Given the description of an element on the screen output the (x, y) to click on. 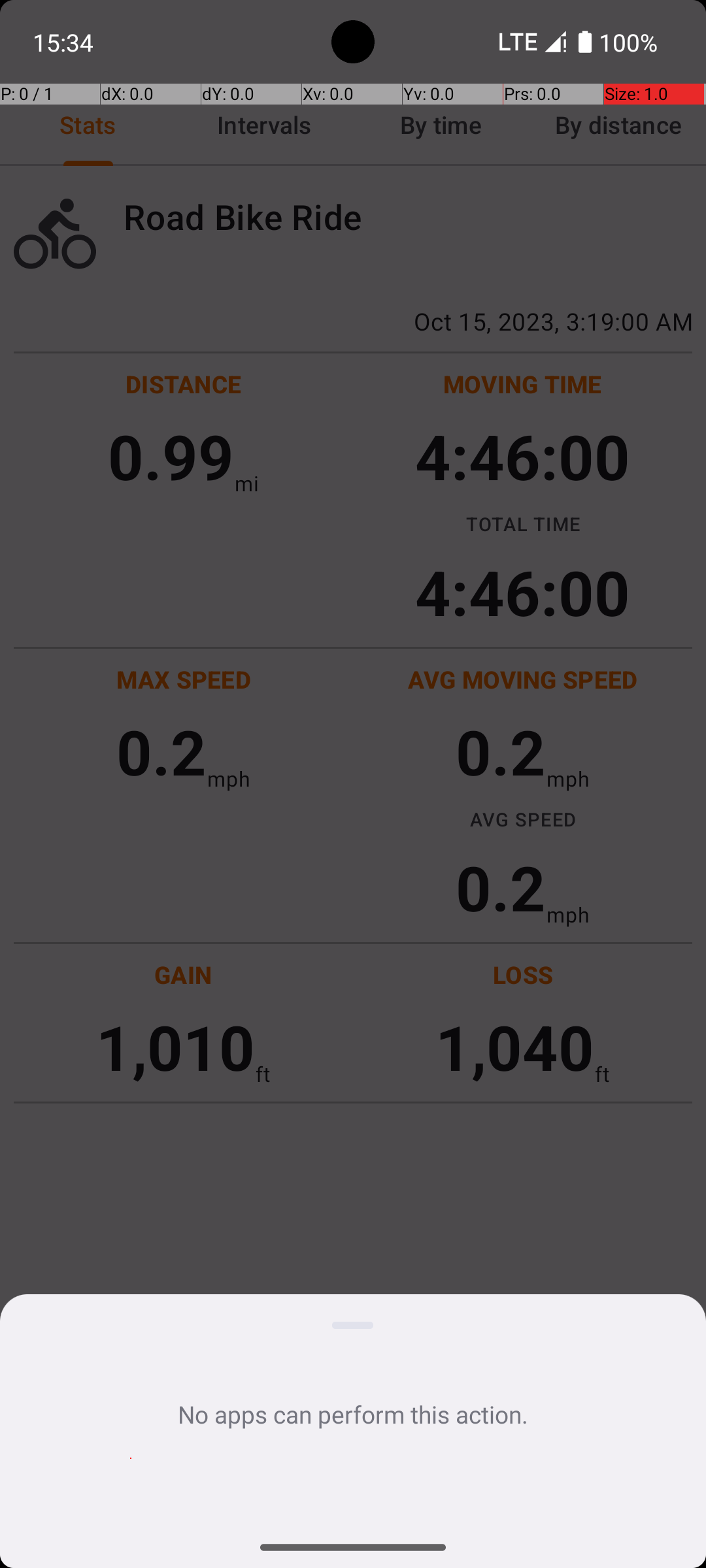
No apps can perform this action. Element type: android.widget.TextView (352, 1413)
